Given the description of an element on the screen output the (x, y) to click on. 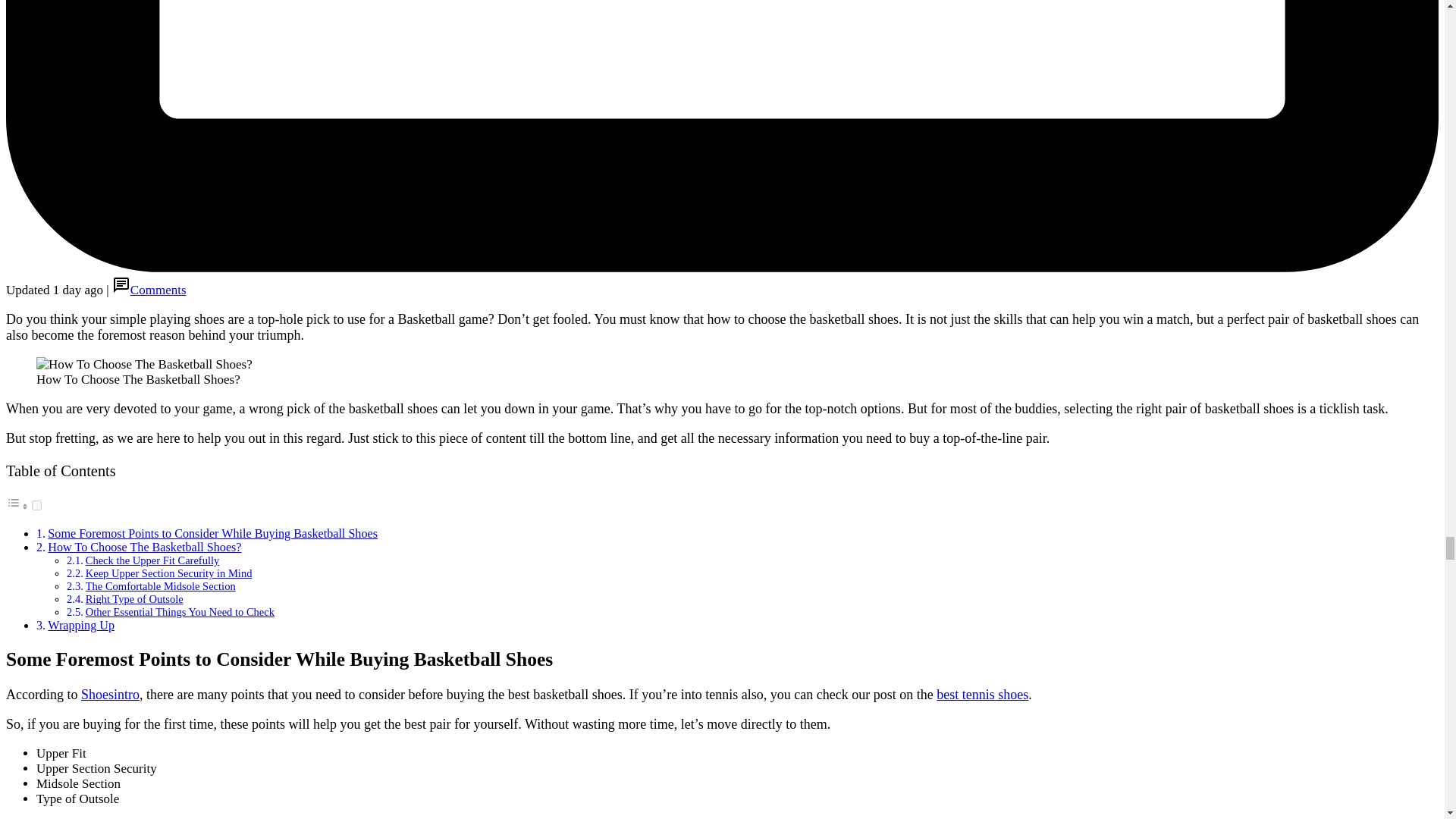
Right Type of Outsole (134, 598)
Comments (158, 289)
The Comfortable Midsole Section (160, 585)
Wrapping Up (81, 625)
How To Choose The Basketball Shoes? (144, 546)
Other Essential Things You Need to Check (180, 612)
Other Essential Things You Need to Check (180, 612)
Check the Upper Fit Carefully (152, 560)
Shoesintro (110, 694)
